Given the description of an element on the screen output the (x, y) to click on. 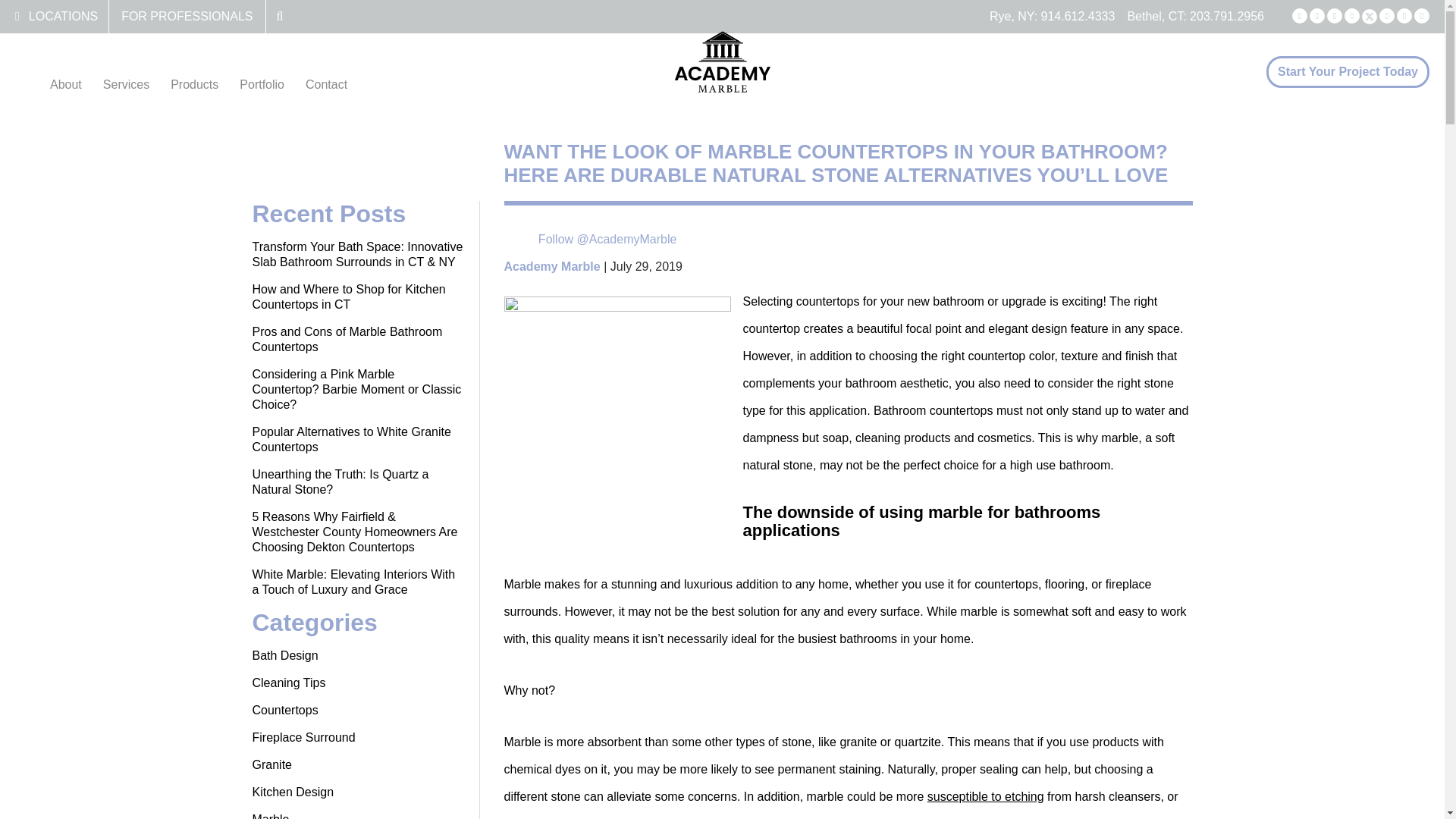
914.612.4333 (1078, 15)
FOR PROFESSIONALS (185, 15)
203.791.2956 (1226, 15)
LOCATIONS (63, 15)
